Given the description of an element on the screen output the (x, y) to click on. 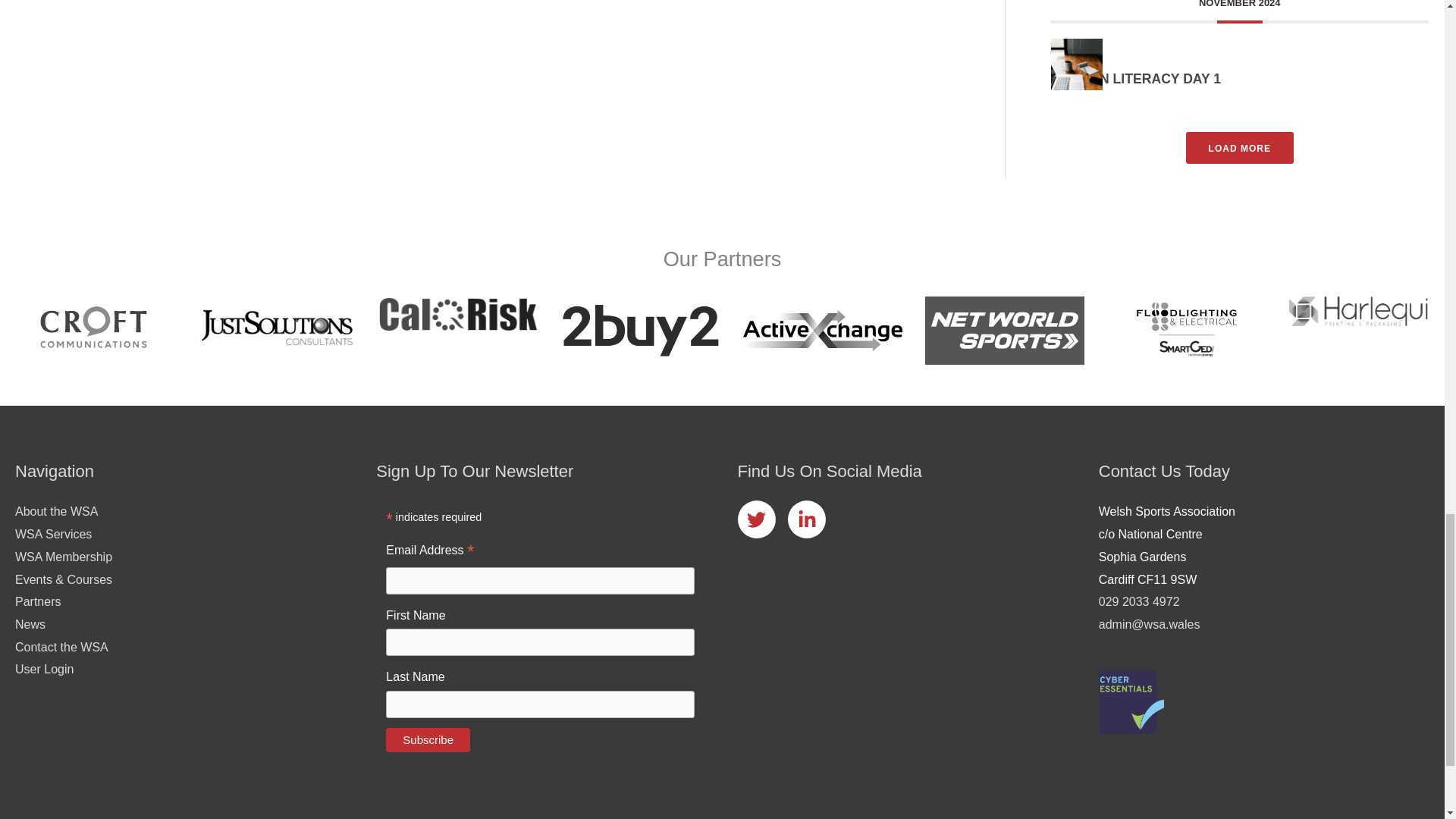
Subscribe (427, 740)
